Given the description of an element on the screen output the (x, y) to click on. 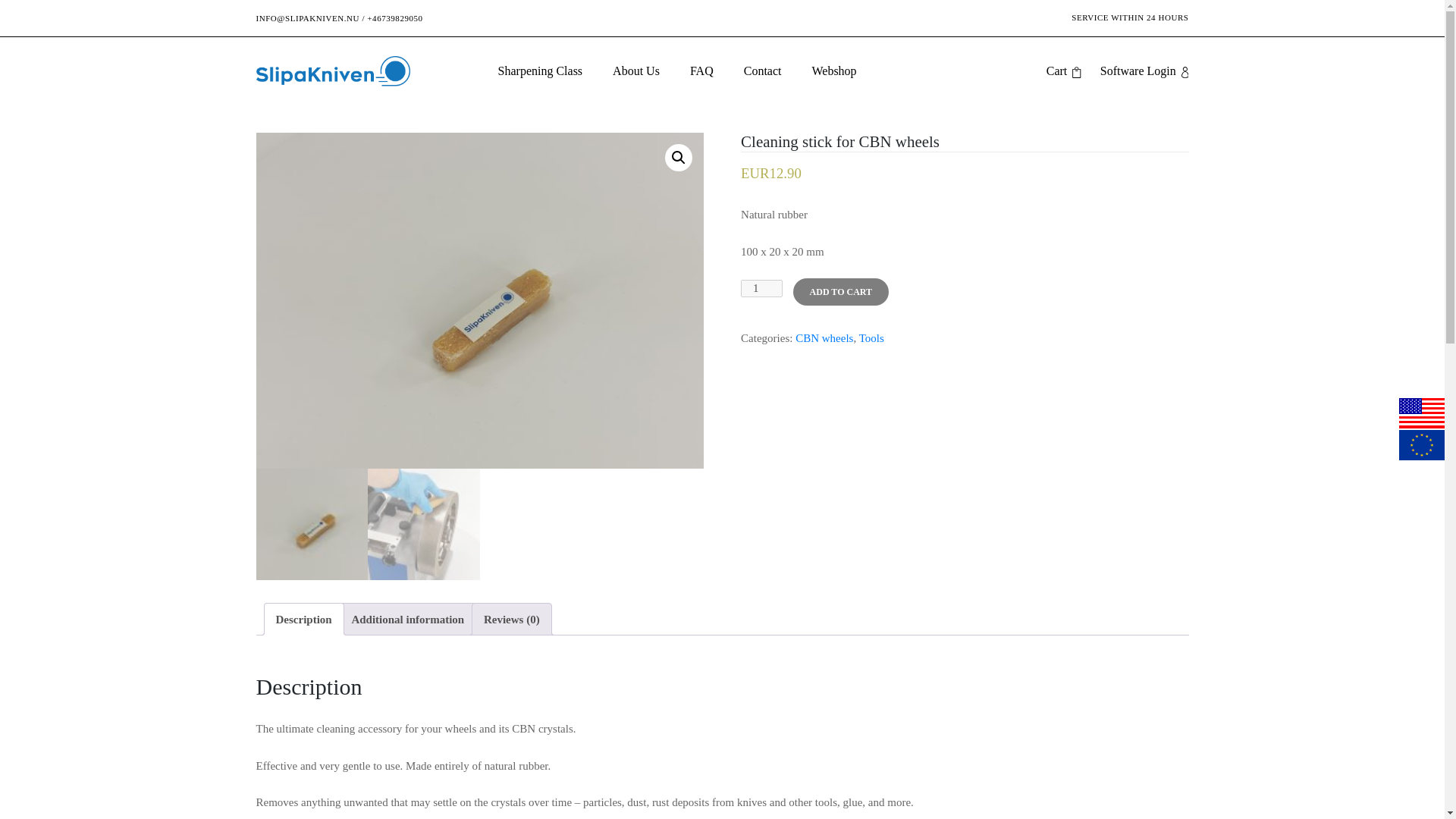
Sharpening Class (540, 71)
Webshop (833, 71)
Tools (871, 337)
1 (761, 288)
Software Login (1144, 71)
ADD TO CART (840, 291)
Sharpening Class (540, 71)
FAQ (701, 71)
Cart (1063, 71)
About Us (635, 71)
Webshop (833, 71)
Description (303, 618)
FAQ (701, 71)
CBN wheels (823, 337)
